Given the description of an element on the screen output the (x, y) to click on. 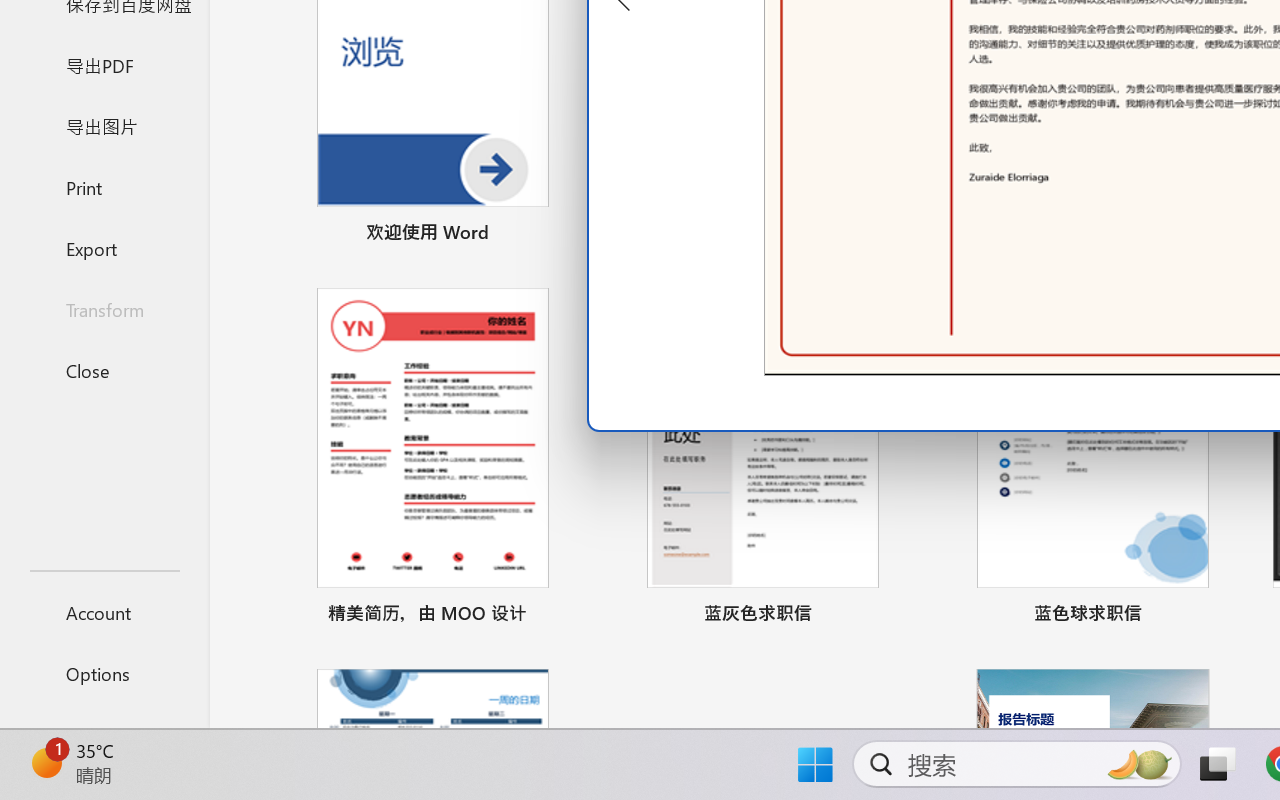
Print (104, 186)
Account (104, 612)
Transform (104, 309)
Pin to list (1223, 616)
Options (104, 673)
Export (104, 248)
